Given the description of an element on the screen output the (x, y) to click on. 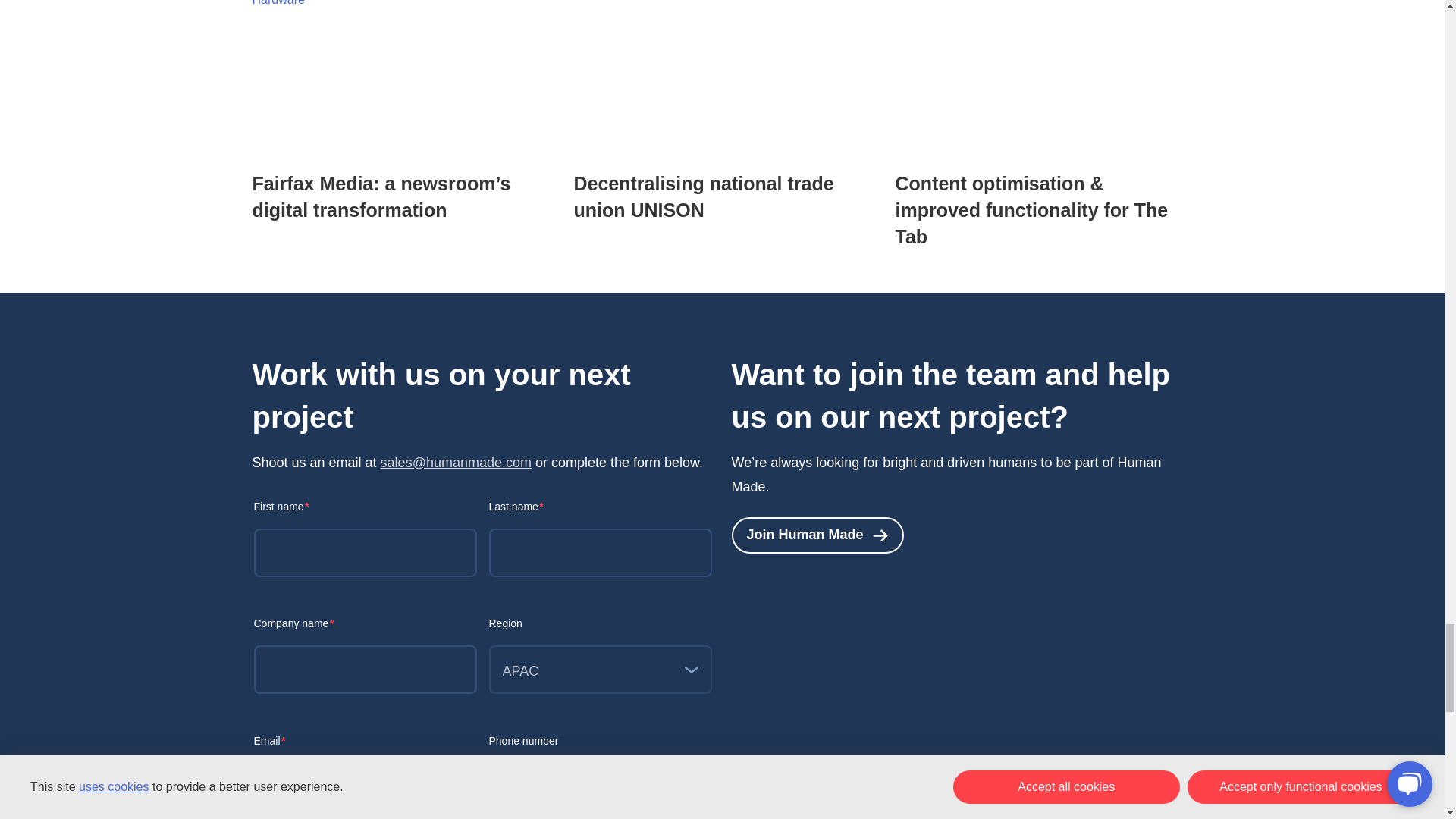
Decentralising national trade union UNISON (702, 196)
Join Human Made (816, 535)
